Given the description of an element on the screen output the (x, y) to click on. 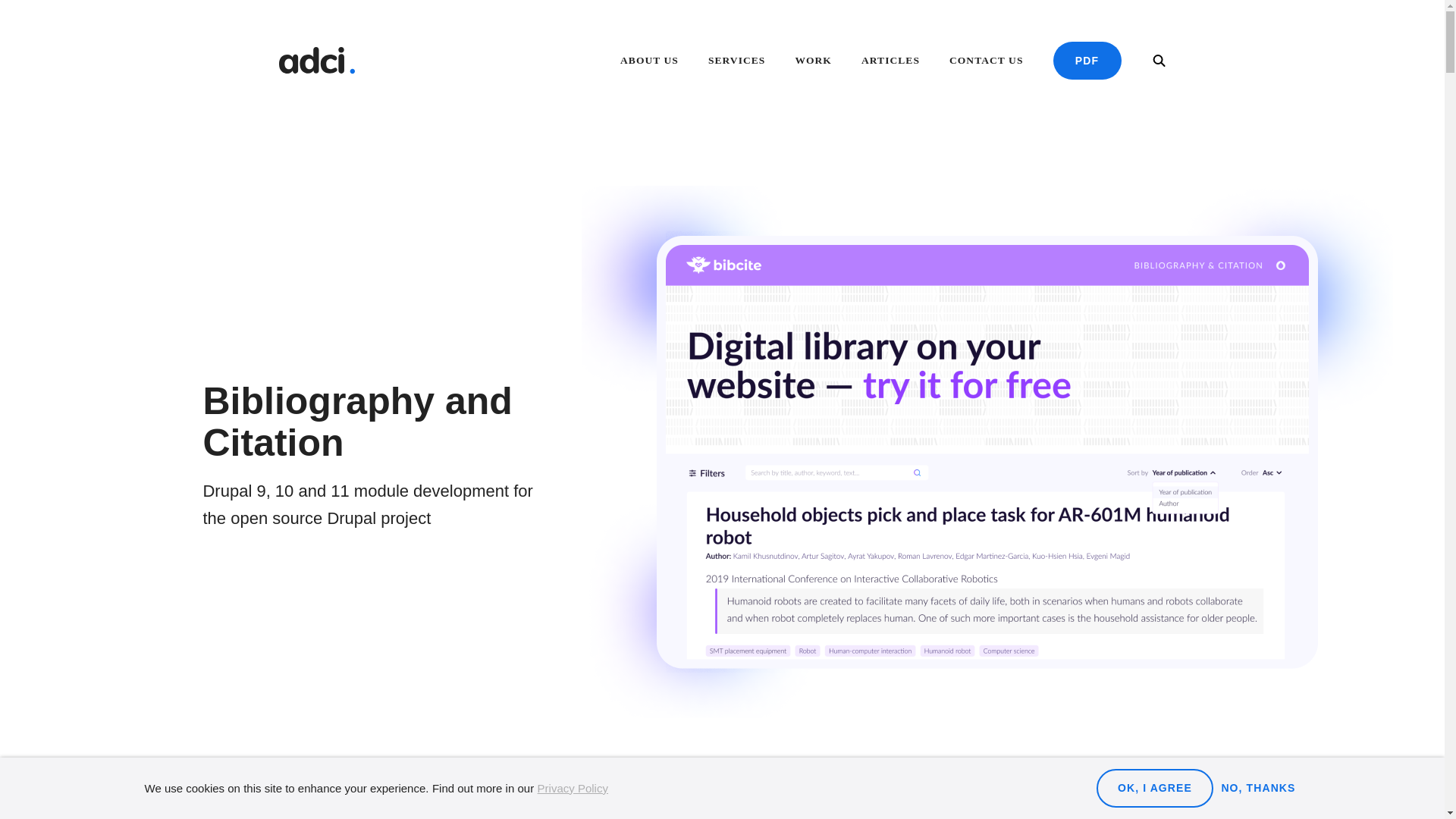
CONTACT US (986, 62)
SERVICES (736, 62)
ABOUT US (649, 62)
PDF (1086, 60)
ARTICLES (890, 62)
Home (317, 60)
WORK (812, 62)
SEARCH (1158, 60)
